Given the description of an element on the screen output the (x, y) to click on. 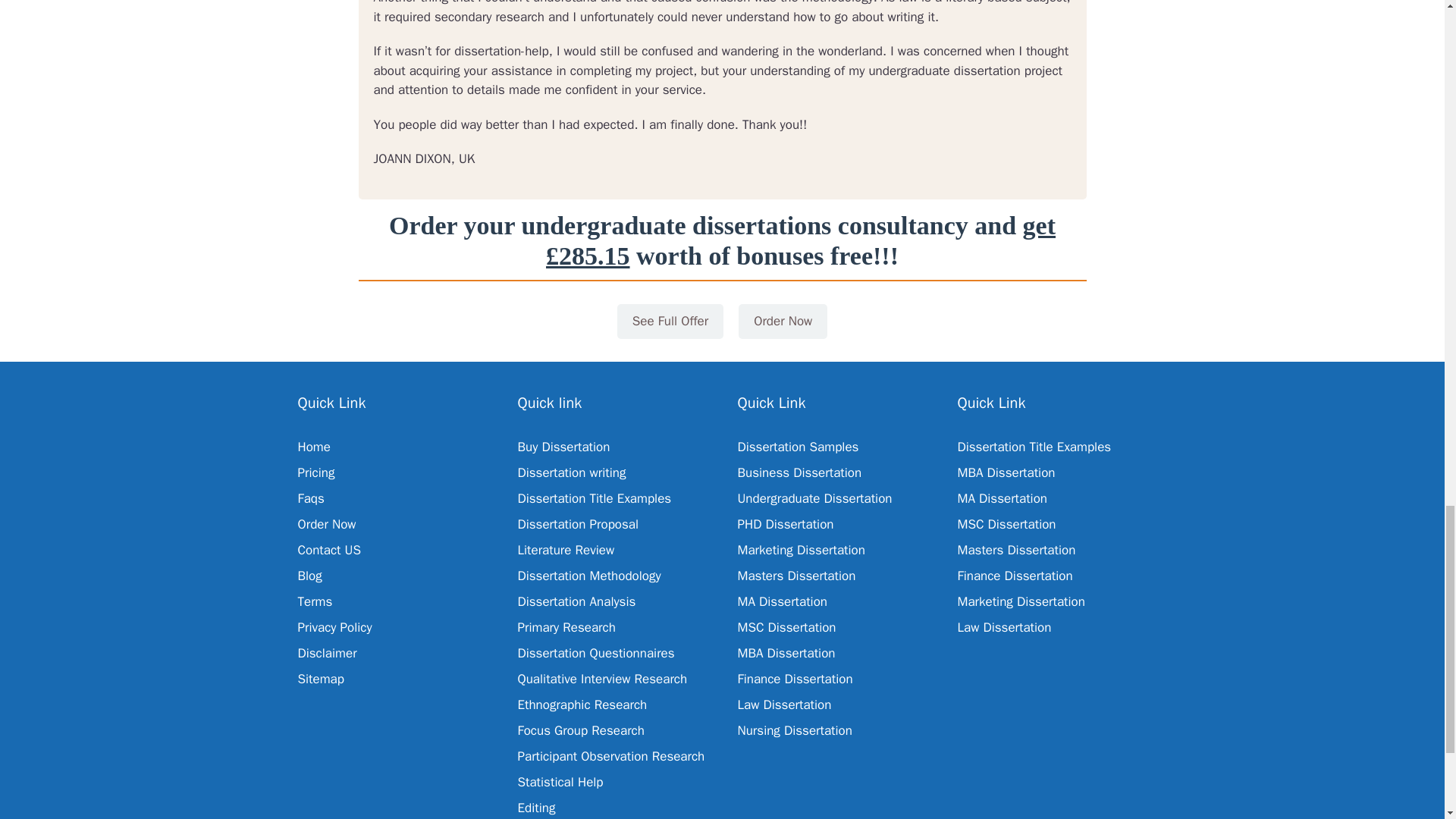
Buy Dissertation (563, 446)
Order Now (326, 524)
Disclaimer (326, 652)
Pricing (315, 472)
Home (313, 446)
Blog (309, 575)
Sitemap (320, 678)
Faqs (310, 498)
Contact US (329, 549)
Privacy Policy (334, 627)
See Full Offer (670, 321)
Terms (314, 601)
Order Now (782, 321)
